Given the description of an element on the screen output the (x, y) to click on. 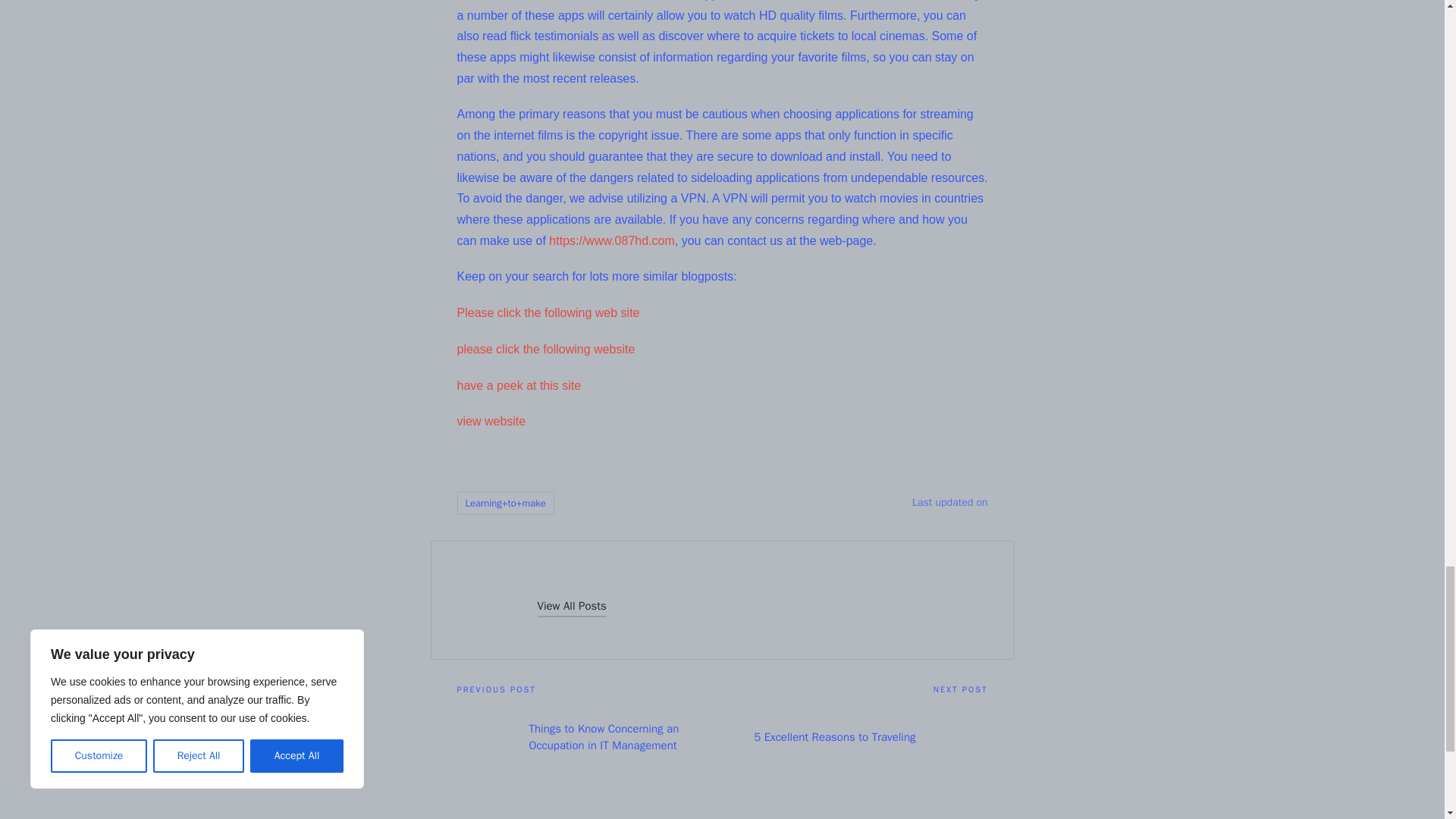
Please click the following web site (548, 312)
Things to Know Concerning an Occupation in IT Management (589, 737)
View All Posts (571, 606)
view website (491, 420)
please click the following website (545, 349)
have a peek at this site (518, 385)
5 Excellent Reasons to Traveling (854, 737)
